Given the description of an element on the screen output the (x, y) to click on. 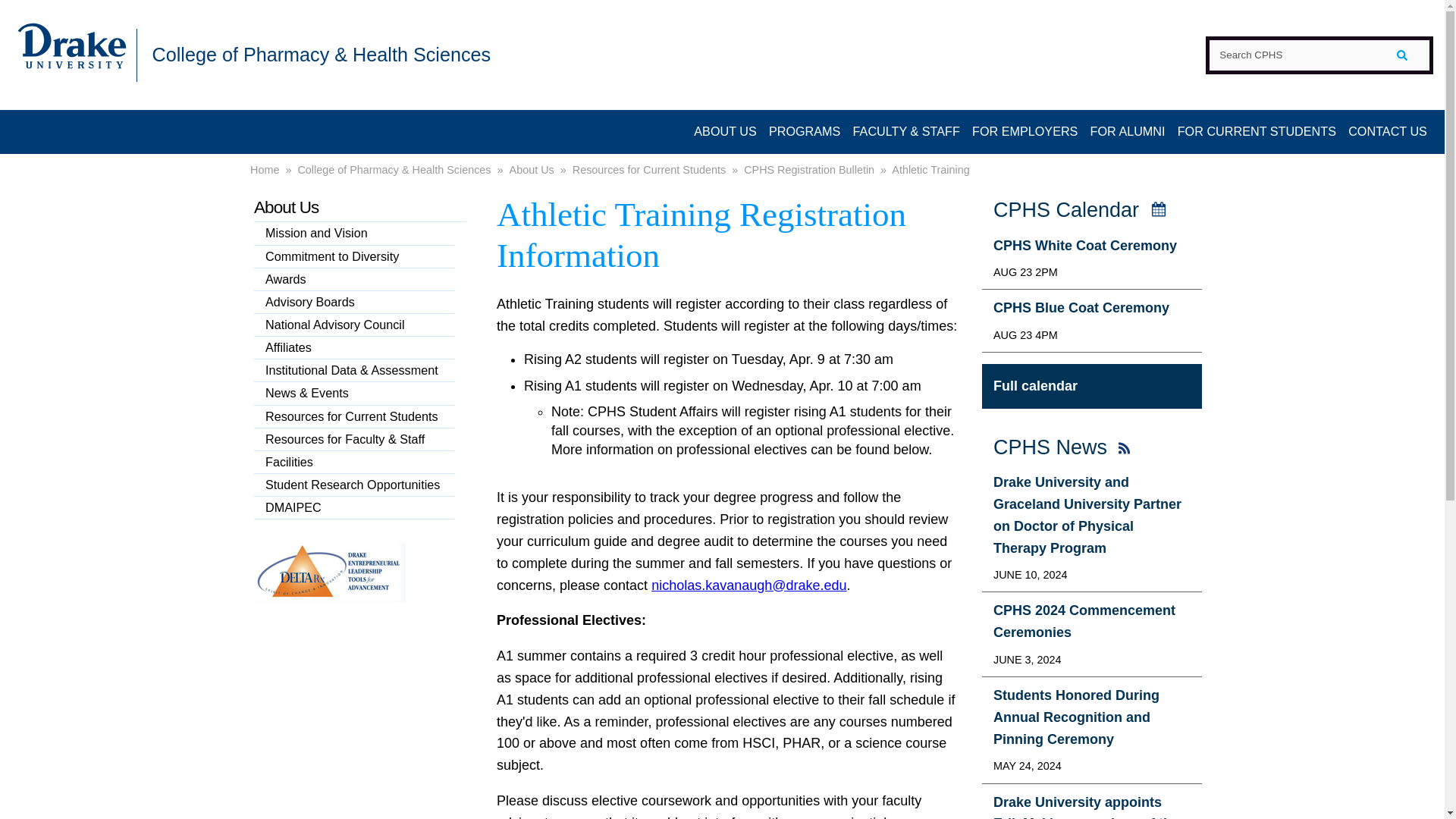
Search CPHS (1318, 55)
Delta RX (329, 597)
Search CPHS (1318, 55)
